Given the description of an element on the screen output the (x, y) to click on. 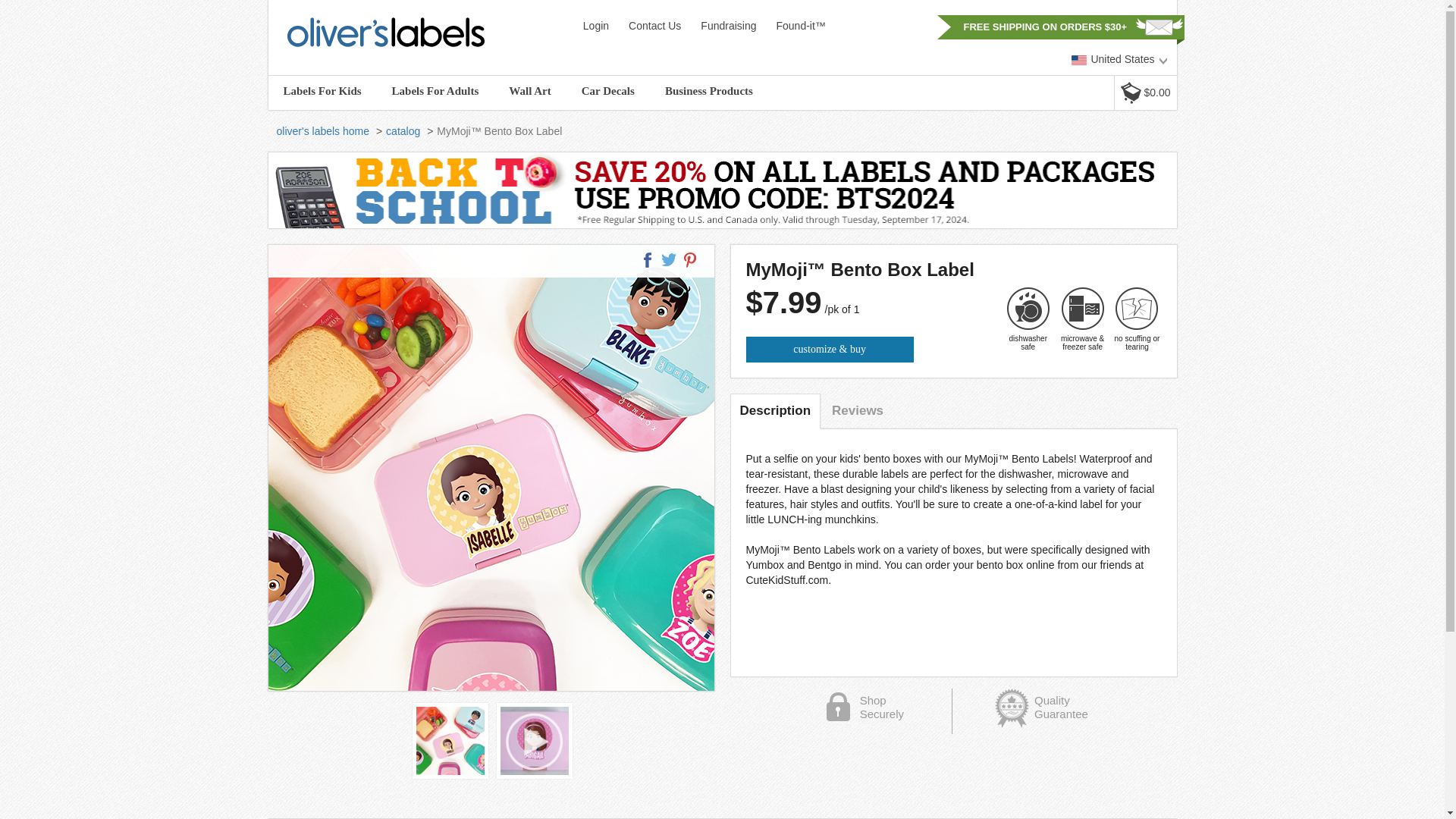
Labels For Kids (322, 91)
Login (595, 26)
Fundraising (728, 26)
Contact Us (655, 26)
United States (1120, 59)
